Given the description of an element on the screen output the (x, y) to click on. 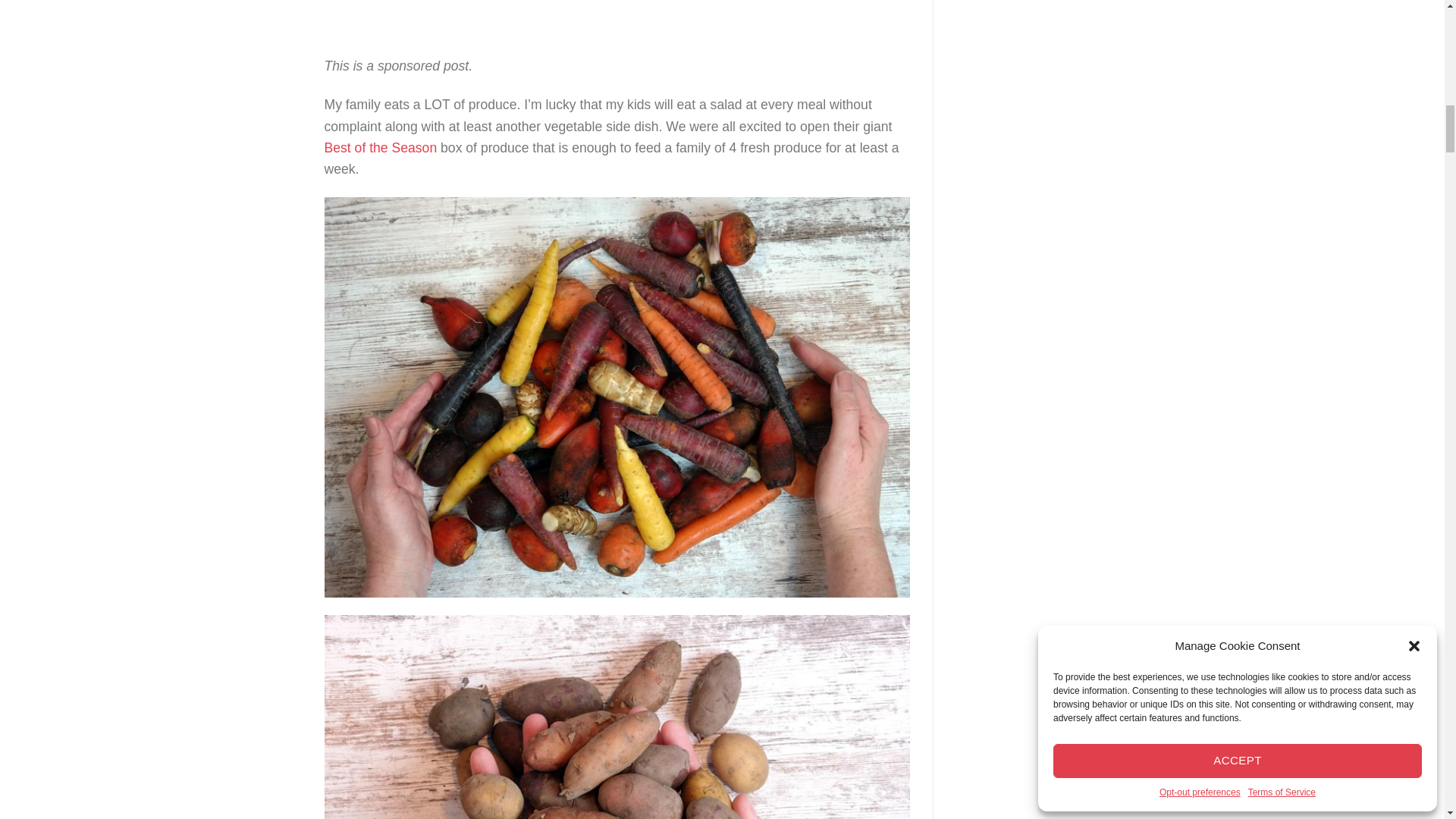
The Chefs Garden (617, 15)
